Given the description of an element on the screen output the (x, y) to click on. 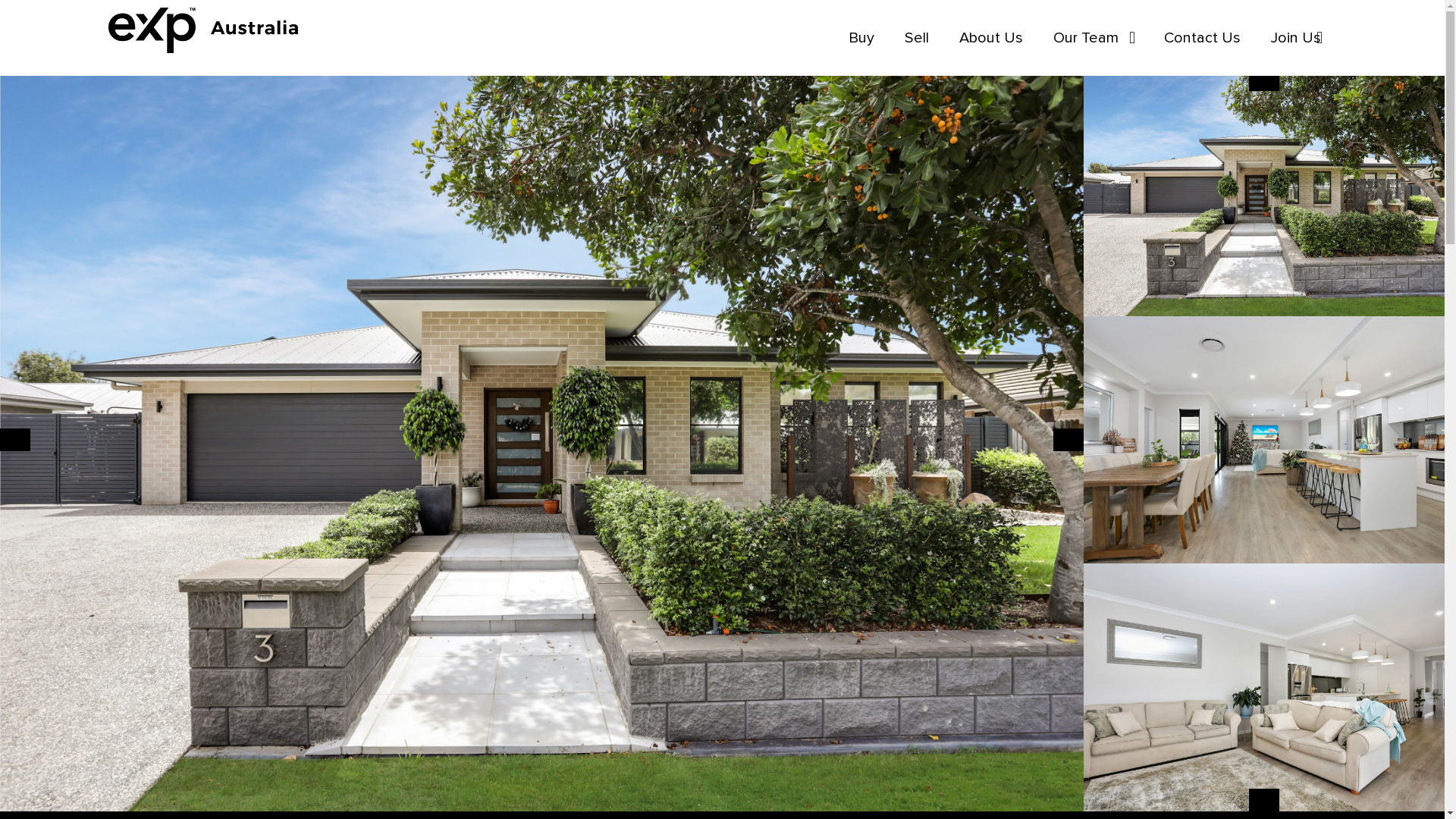
Sell Element type: text (916, 37)
About Us Element type: text (991, 37)
Our Team Element type: text (1085, 37)
Contact Us Element type: text (1201, 37)
Buy Element type: text (861, 37)
Join Us Element type: text (1288, 37)
